Given the description of an element on the screen output the (x, y) to click on. 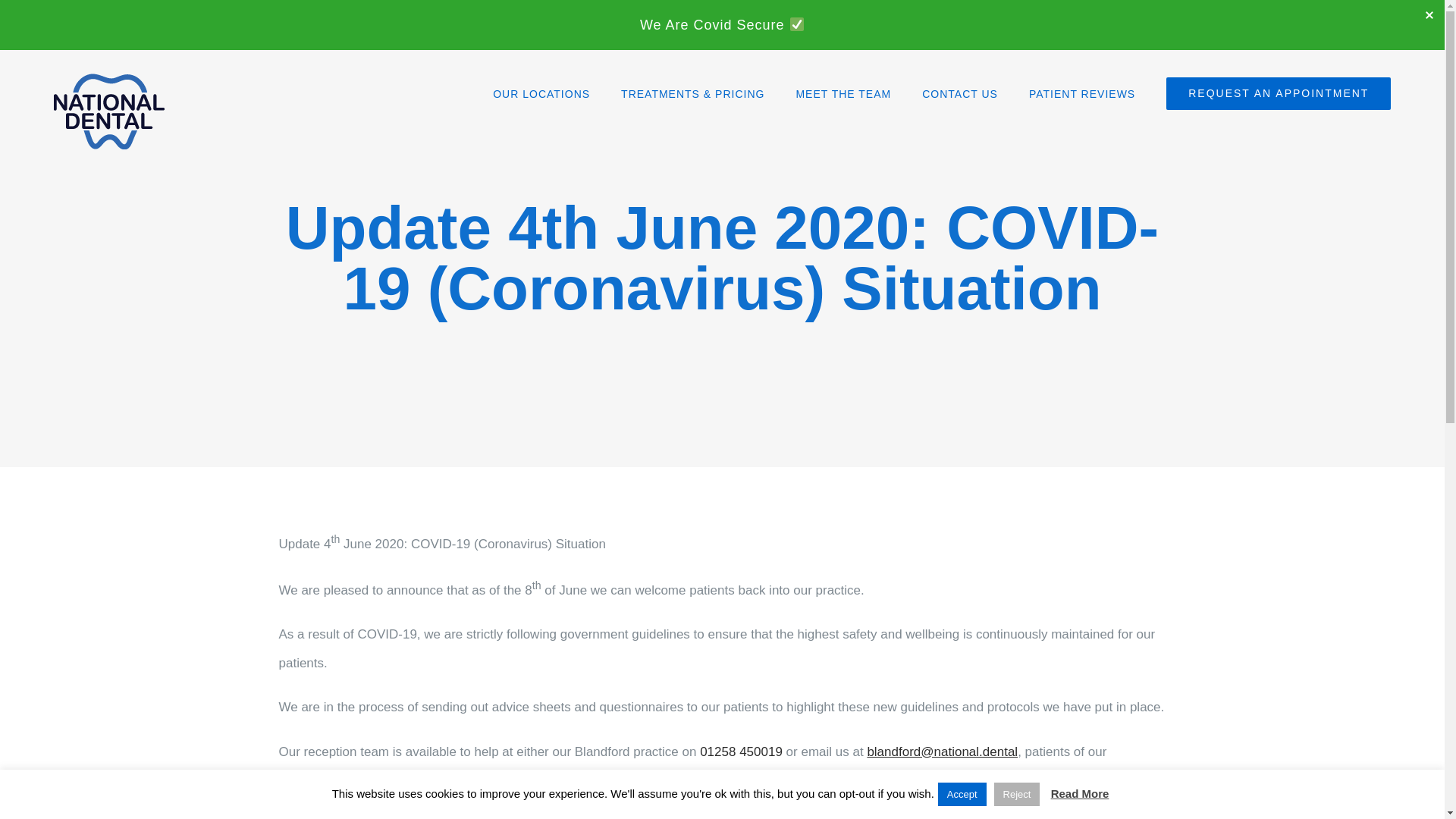
01258 450019 (741, 751)
01305 265408 (609, 780)
REQUEST AN APPOINTMENT (1278, 93)
PATIENT REVIEWS (1082, 93)
MEET THE TEAM (842, 93)
OUR LOCATIONS (541, 93)
CONTACT US (959, 93)
